Given the description of an element on the screen output the (x, y) to click on. 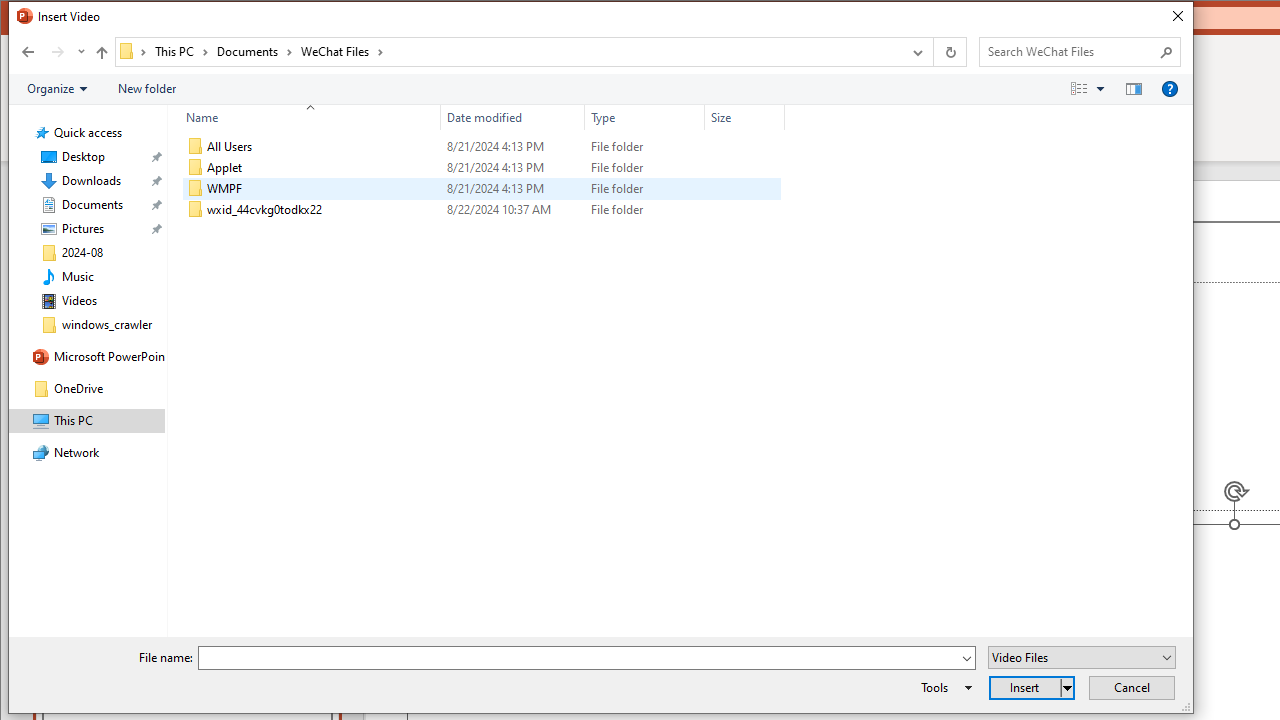
Preview pane (1134, 89)
wxid_44cvkg0todkx22 (481, 209)
Size (744, 117)
